Given the description of an element on the screen output the (x, y) to click on. 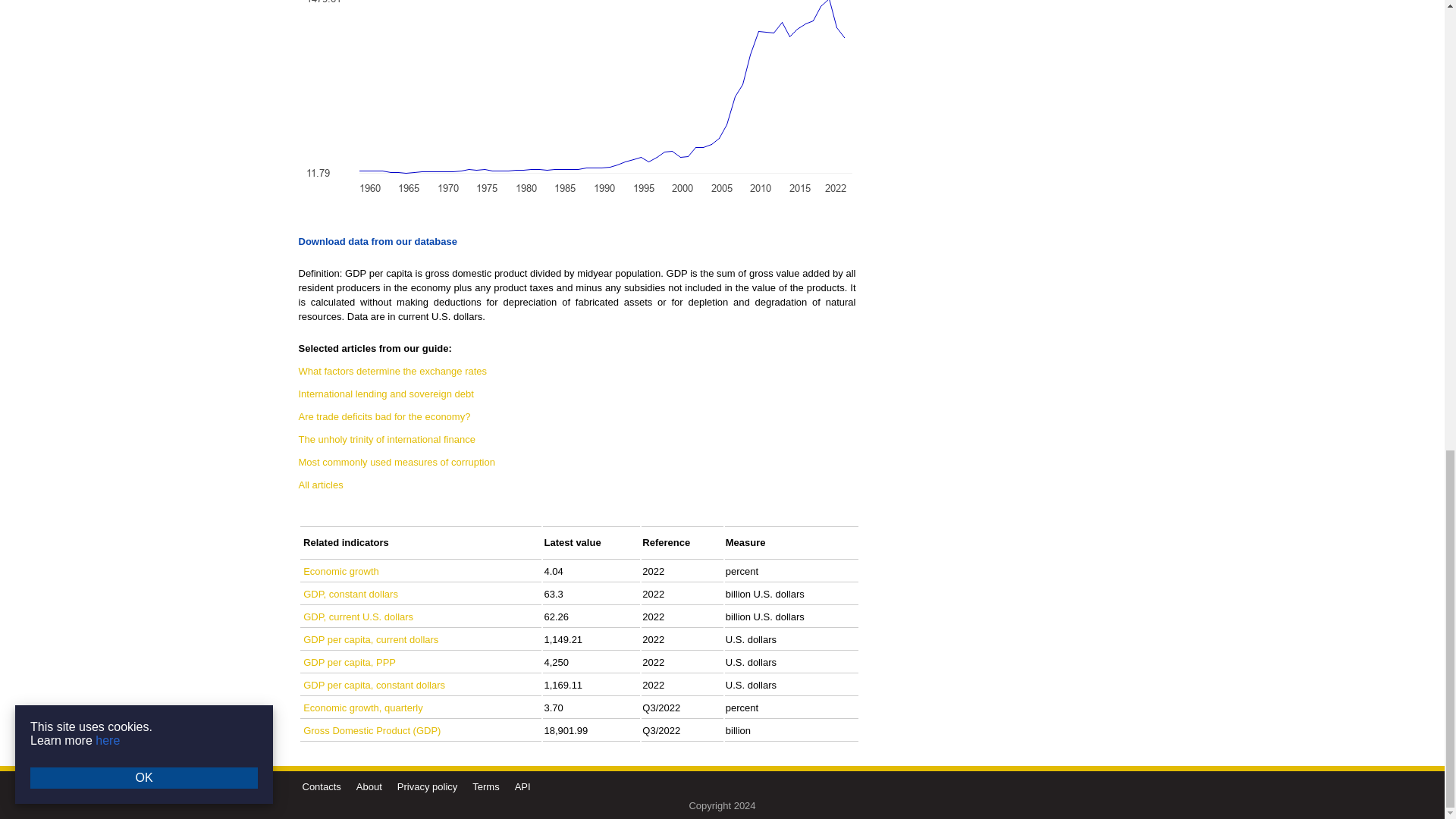
Download data from our database (377, 241)
What factors determine the exchange rates (392, 370)
